Given the description of an element on the screen output the (x, y) to click on. 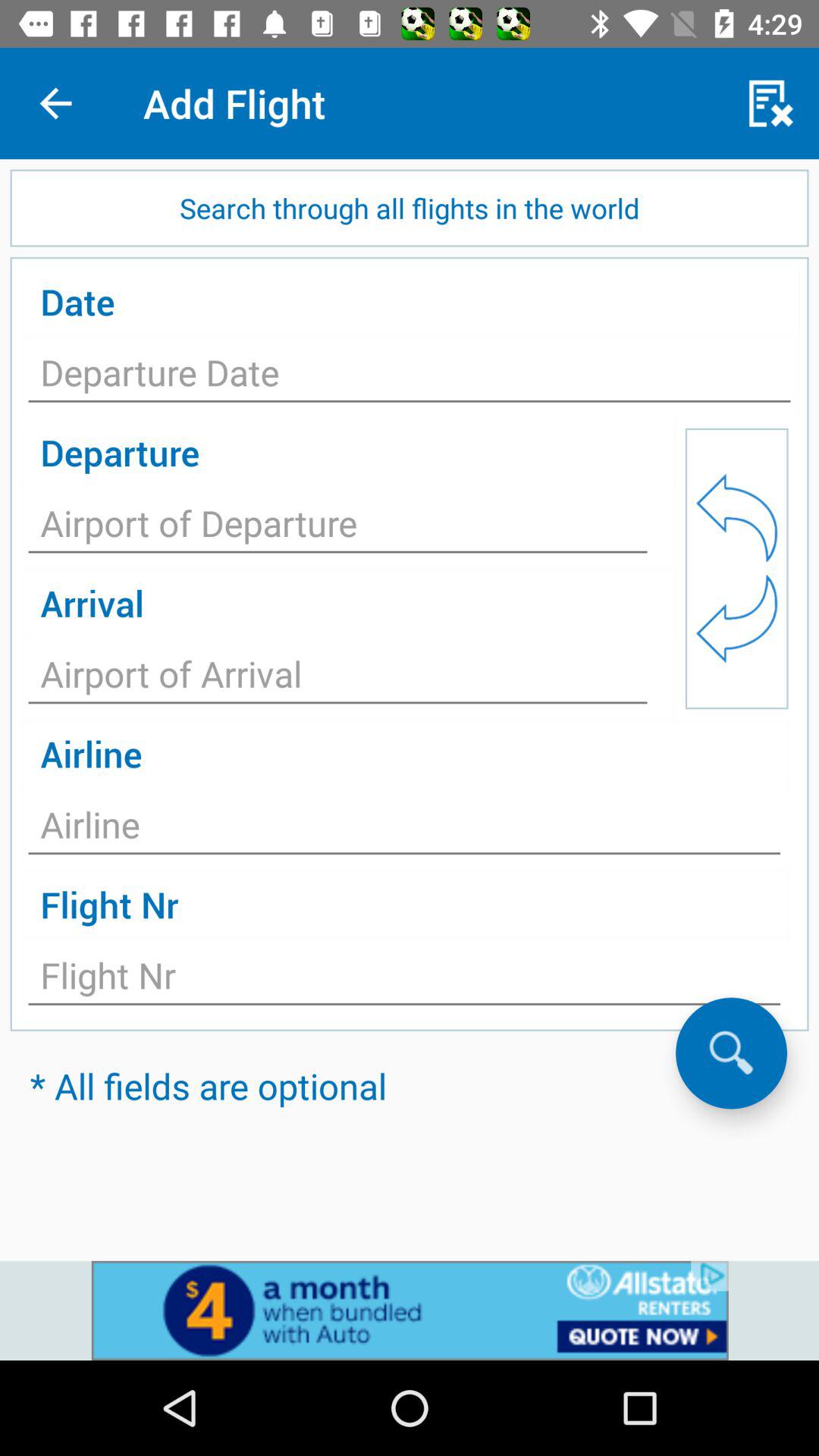
enter airline (404, 829)
